Given the description of an element on the screen output the (x, y) to click on. 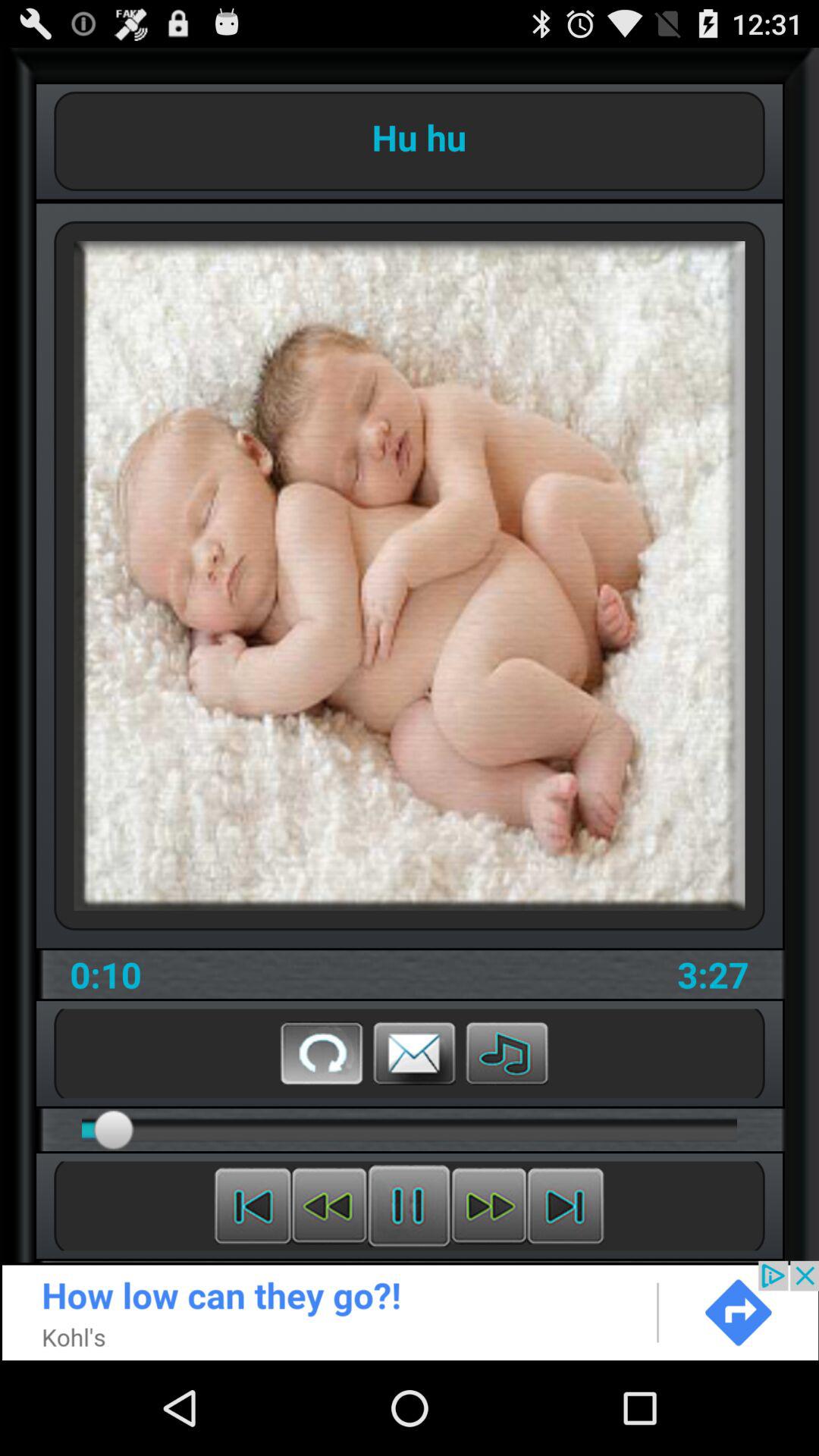
message option (414, 1053)
